Given the description of an element on the screen output the (x, y) to click on. 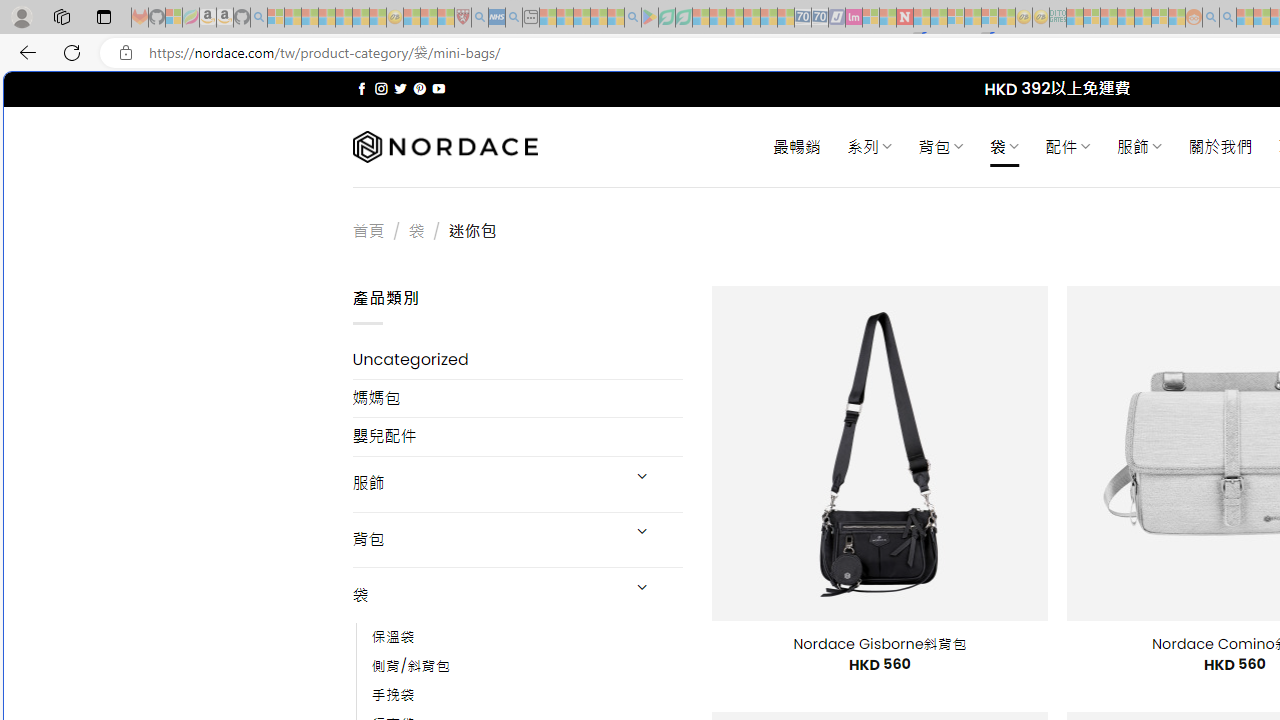
utah sues federal government - Search - Sleeping (513, 17)
google - Search - Sleeping (632, 17)
Uncategorized (517, 359)
